Given the description of an element on the screen output the (x, y) to click on. 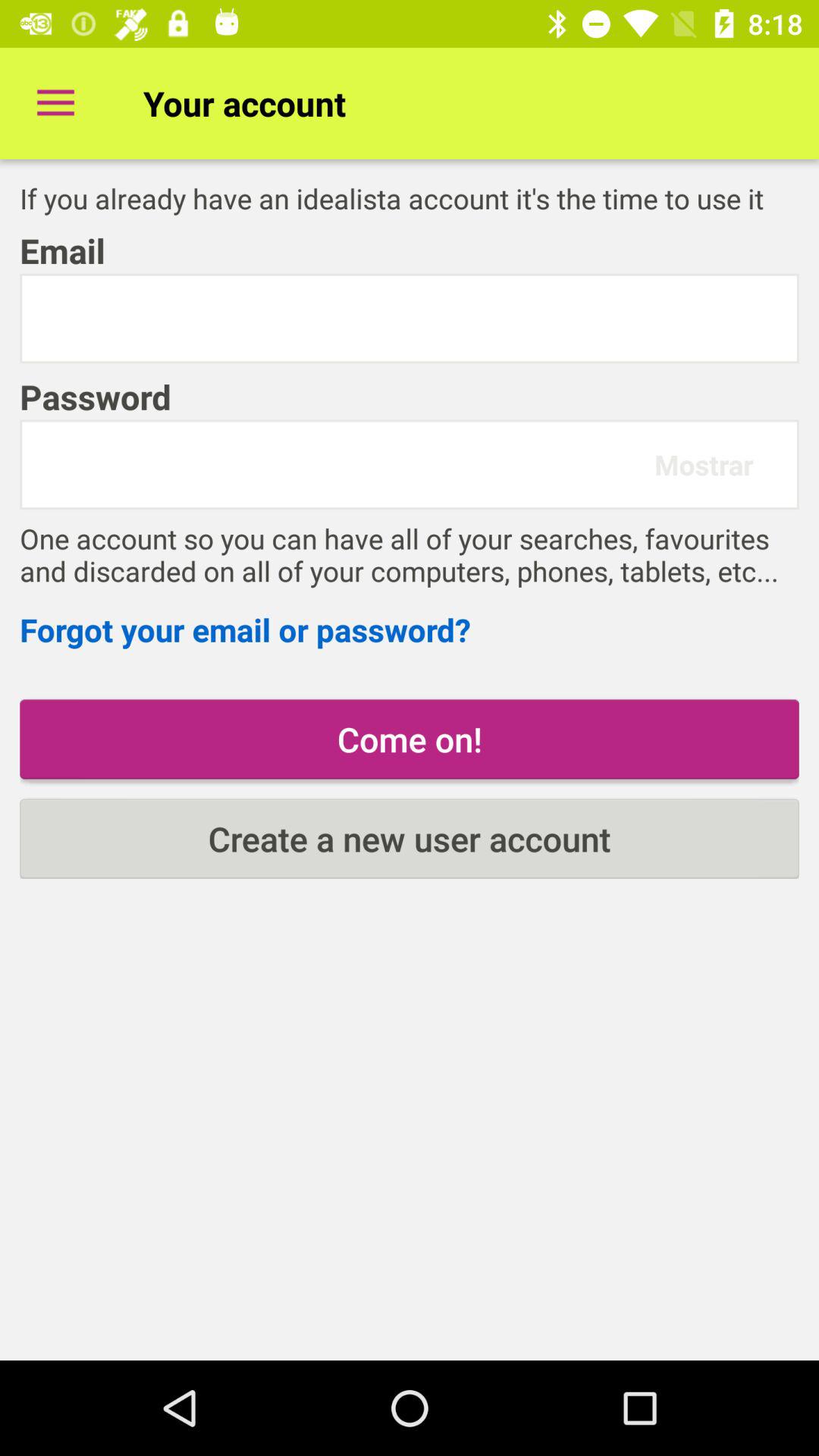
click the item above one account so icon (703, 464)
